Given the description of an element on the screen output the (x, y) to click on. 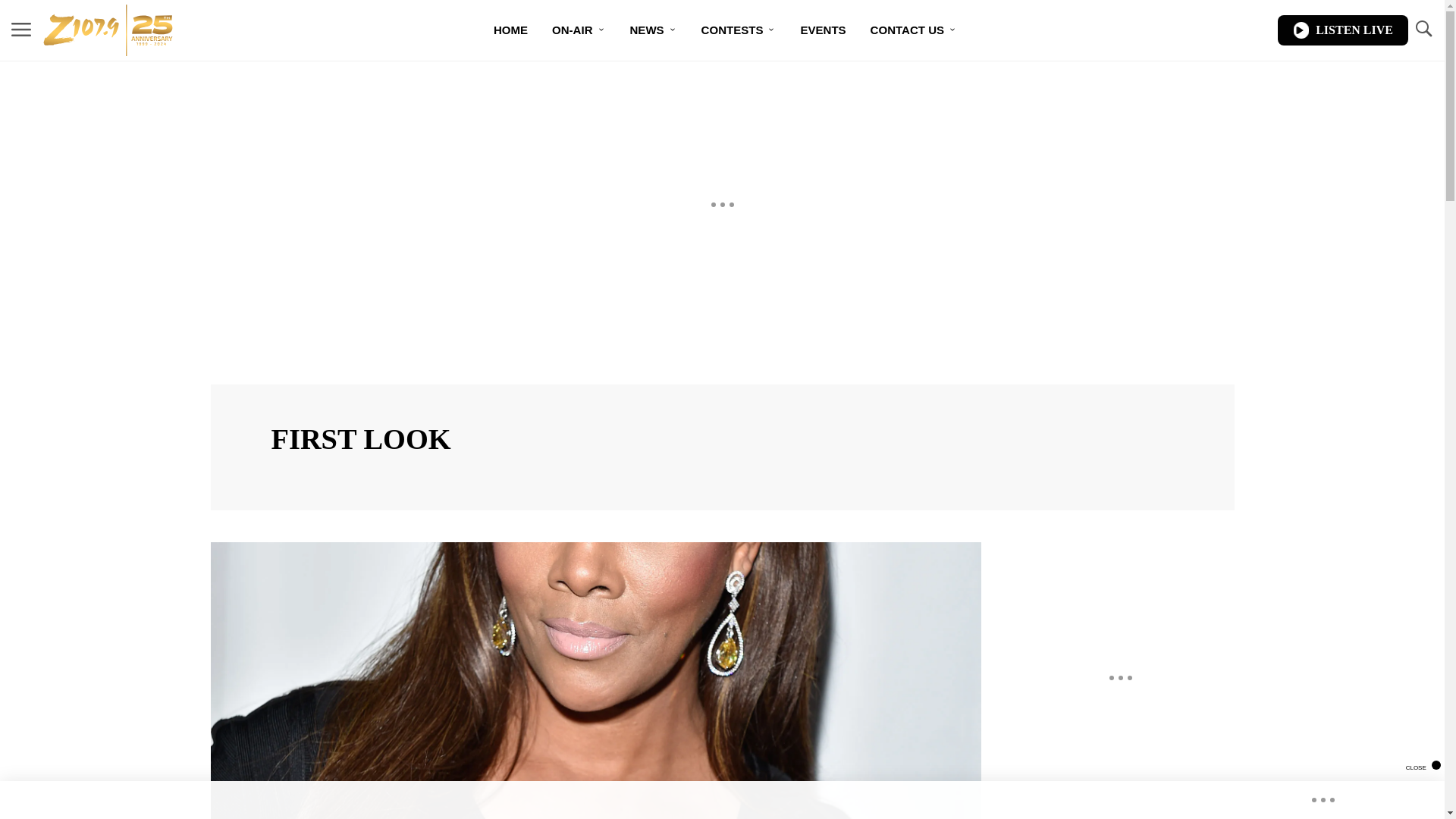
CONTESTS (738, 30)
LISTEN LIVE (1342, 30)
HOME (510, 30)
MENU (20, 30)
ON-AIR (578, 30)
EVENTS (822, 30)
CONTACT US (914, 30)
TOGGLE SEARCH (1422, 28)
NEWS (652, 30)
MENU (20, 29)
